Given the description of an element on the screen output the (x, y) to click on. 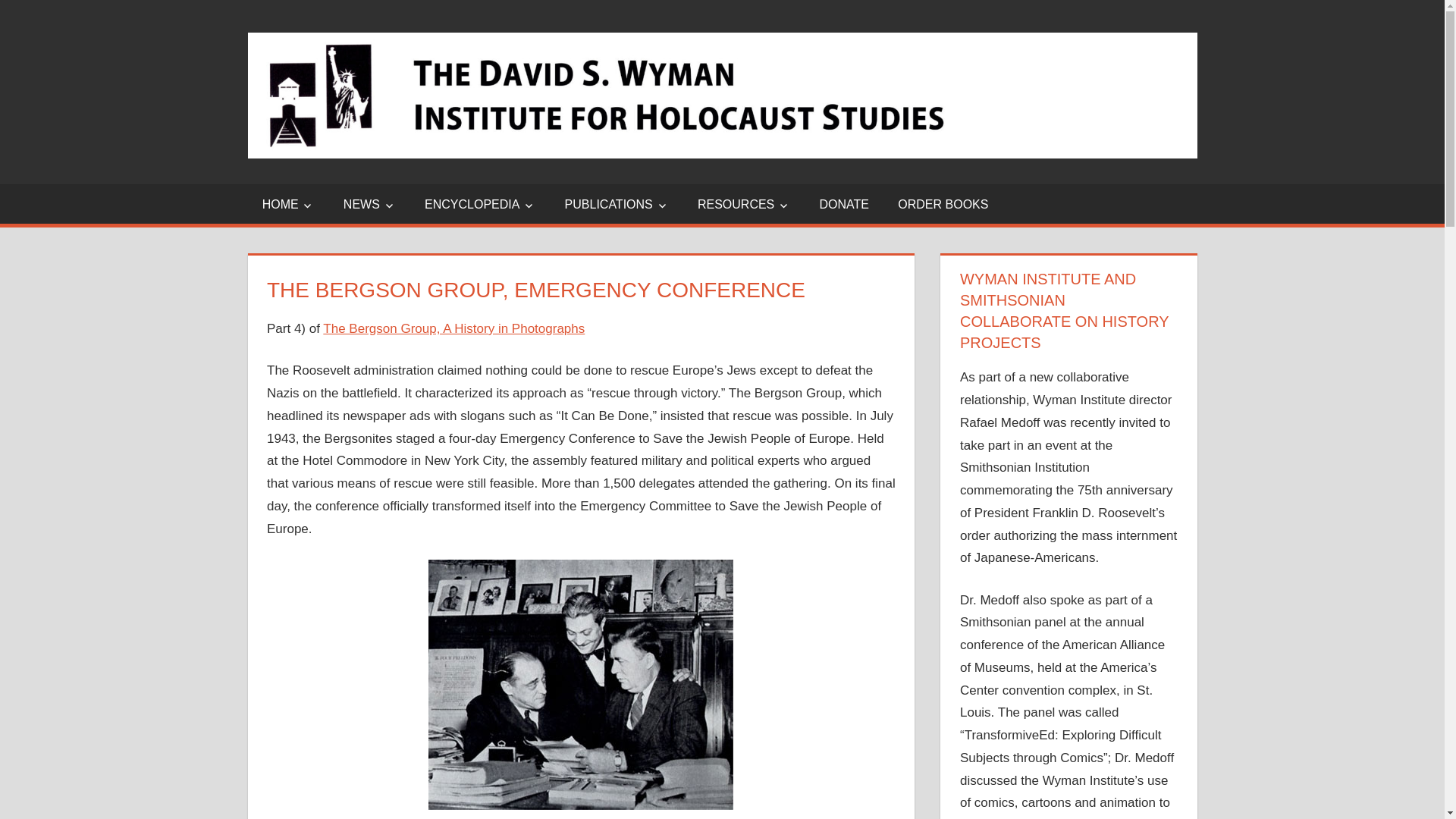
PUBLICATIONS (616, 203)
RESOURCES (743, 203)
ENCYCLOPEDIA (480, 203)
HOME (288, 203)
NEWS (369, 203)
